Given the description of an element on the screen output the (x, y) to click on. 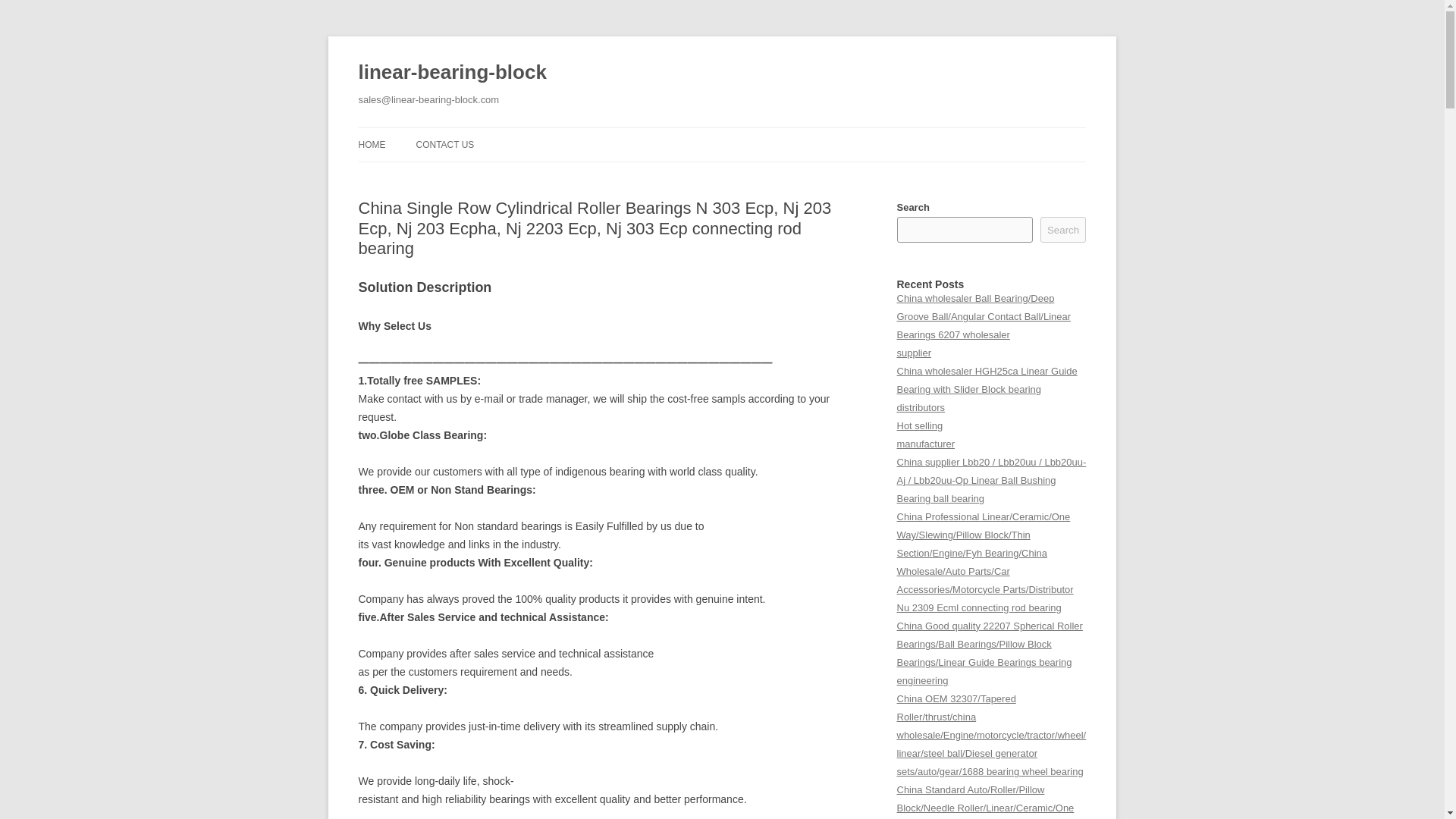
Search (1063, 229)
Hot selling (919, 425)
supplier (913, 352)
manufacturer (925, 443)
linear-bearing-block (452, 72)
CONTACT US (444, 144)
